Given the description of an element on the screen output the (x, y) to click on. 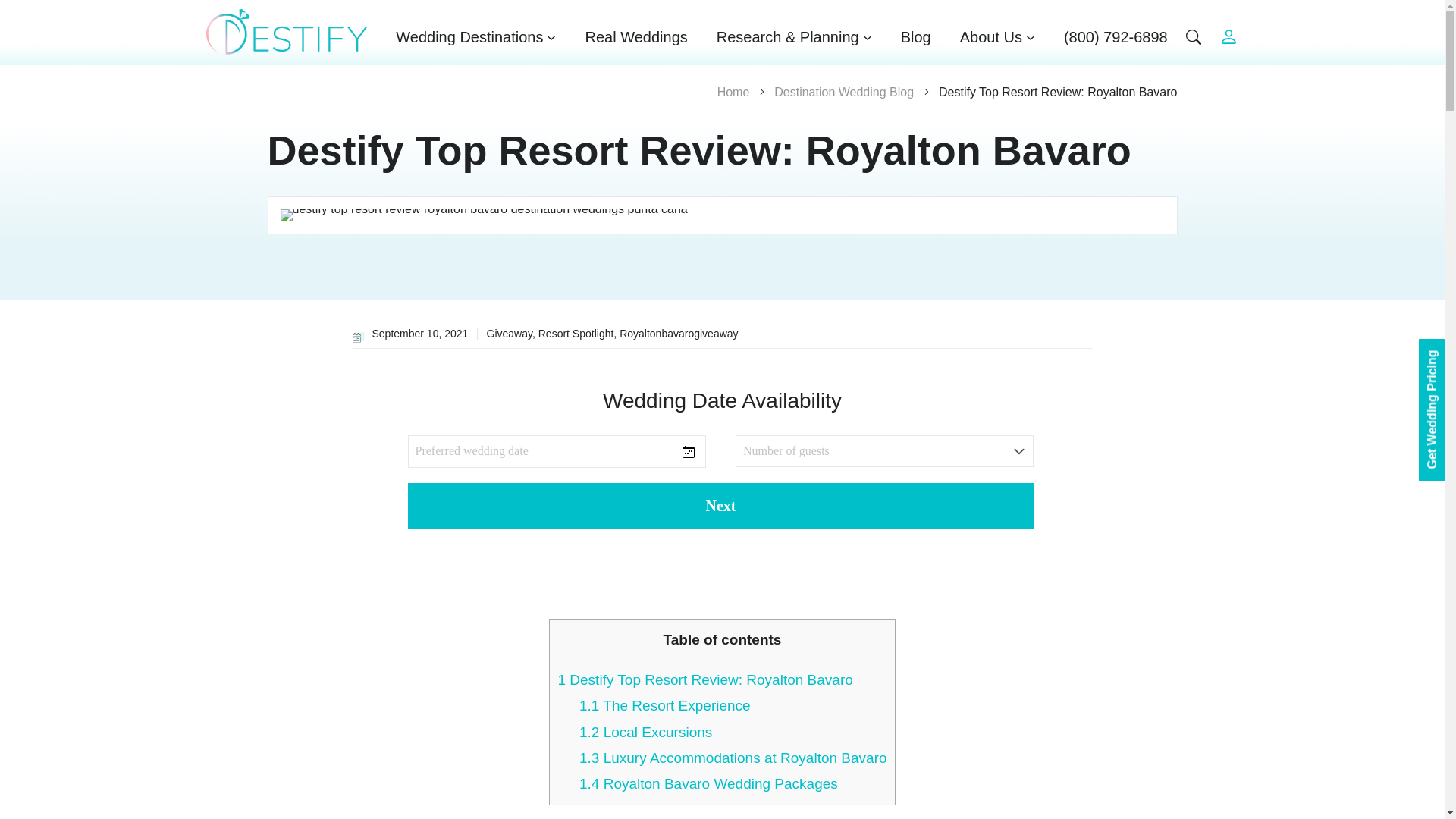
Wedding Destinations (476, 36)
Homepage (286, 31)
Blog (916, 36)
About Us (997, 36)
Real Weddings (636, 36)
